Given the description of an element on the screen output the (x, y) to click on. 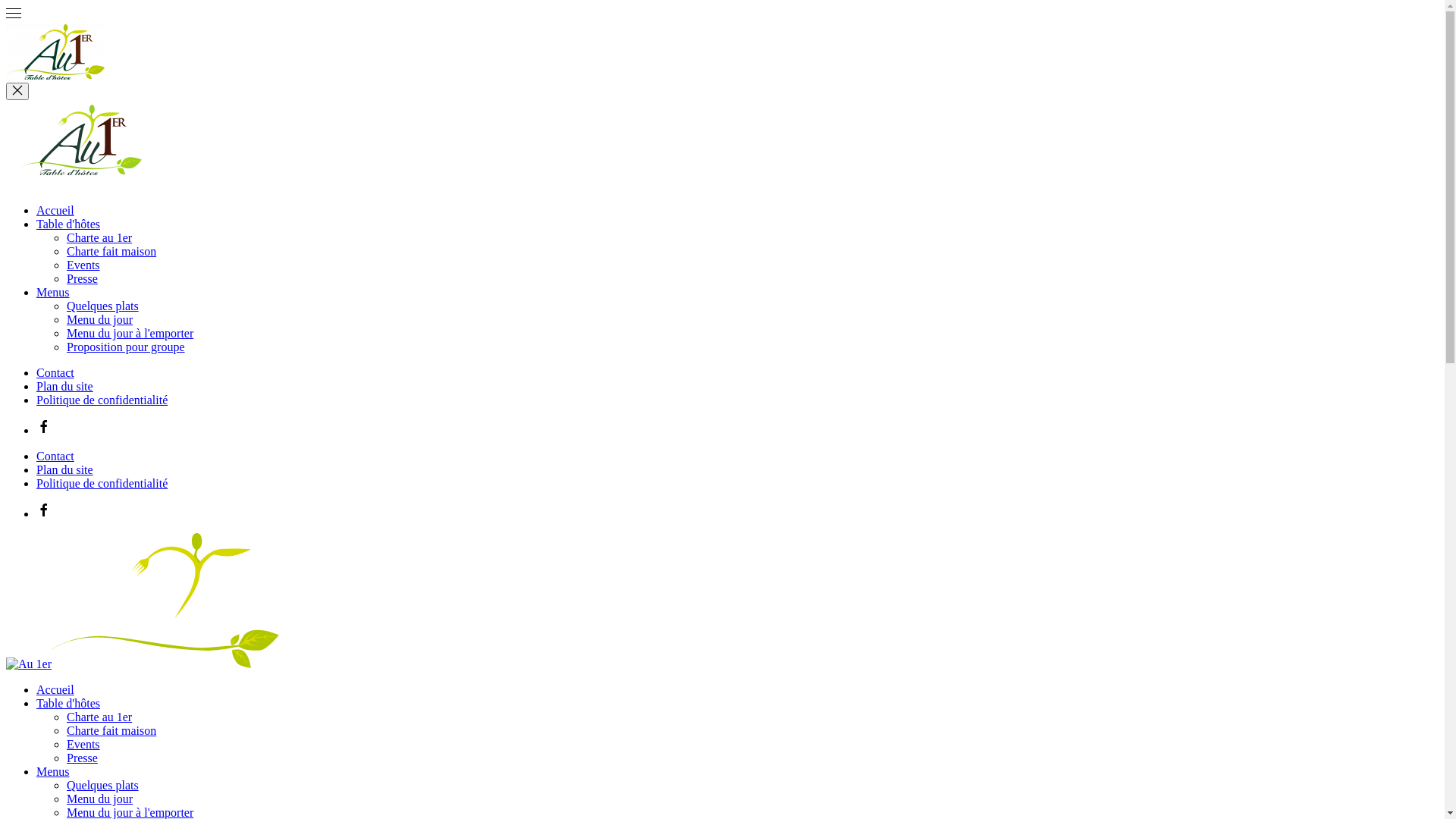
Menus Element type: text (52, 771)
Charte fait maison Element type: text (111, 250)
Presse Element type: text (81, 278)
Accueil Element type: text (55, 209)
Quelques plats Element type: text (102, 305)
Plan du site Element type: text (64, 469)
Charte au 1er Element type: text (98, 237)
Presse Element type: text (81, 757)
Contact Element type: text (55, 455)
Proposition pour groupe Element type: text (125, 346)
Menus Element type: text (52, 291)
Menu du jour Element type: text (99, 319)
Events Element type: text (83, 264)
Accueil Element type: text (55, 689)
Charte au 1er Element type: text (98, 716)
Charte fait maison Element type: text (111, 730)
Plan du site Element type: text (64, 385)
Events Element type: text (83, 743)
Quelques plats Element type: text (102, 784)
Contact Element type: text (55, 372)
Menu du jour Element type: text (99, 798)
